Given the description of an element on the screen output the (x, y) to click on. 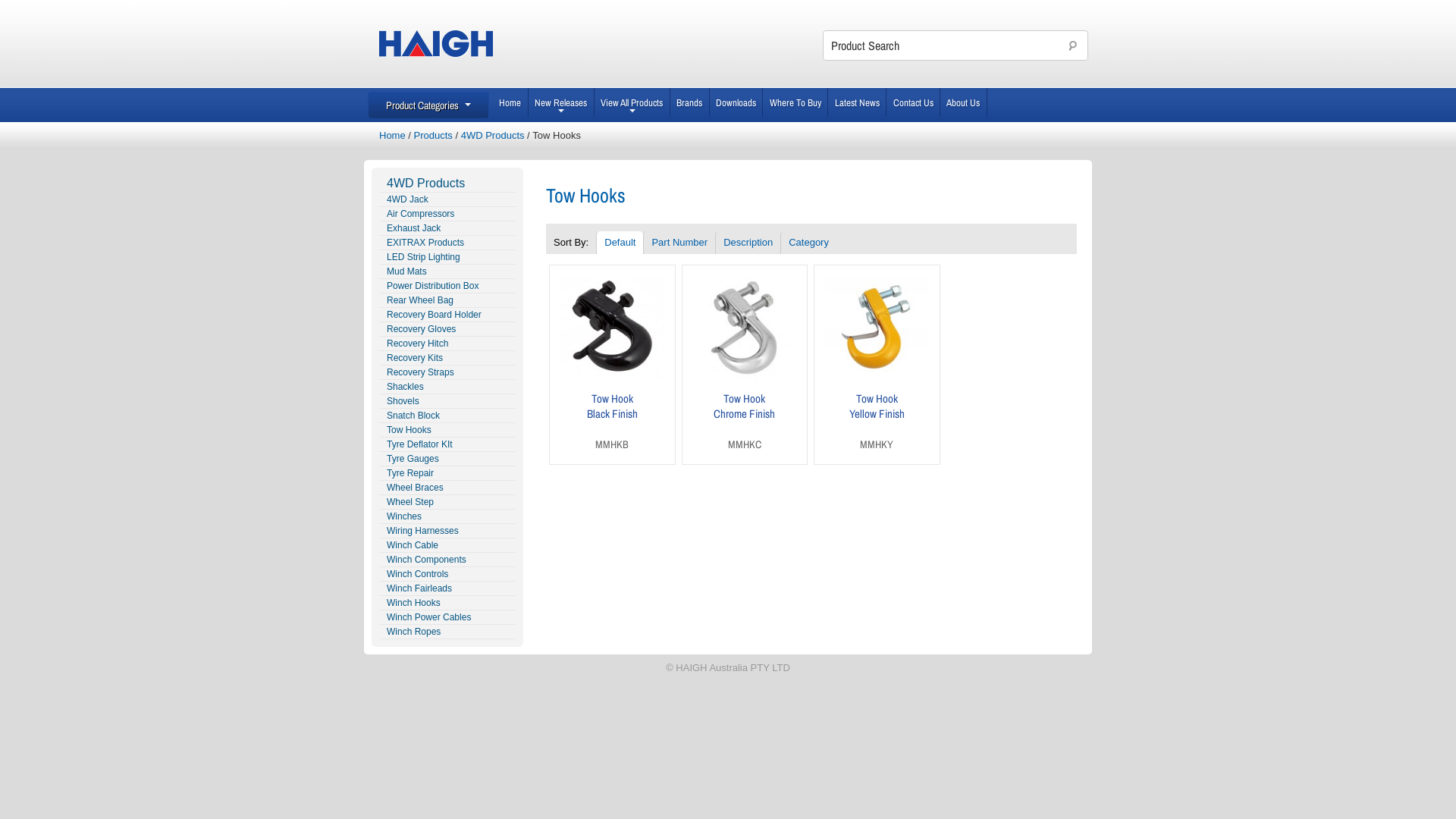
Tow Hook
Yellow Finish
MMHKY Element type: text (876, 364)
Tow Hooks Element type: text (447, 430)
Winch Power Cables Element type: text (447, 617)
Part Number Element type: text (679, 242)
Recovery Board Holder Element type: text (447, 314)
/products/4wd/tow-hooks/tow-hook-detail Element type: hover (612, 377)
Winch Fairleads Element type: text (447, 588)
Winches Element type: text (447, 516)
Rear Wheel Bag Element type: text (447, 300)
Recovery Straps Element type: text (447, 372)
Product Categories Element type: text (428, 105)
About Us Element type: text (963, 101)
Description Element type: text (747, 242)
LED Strip Lighting Element type: text (447, 257)
Contact Us Element type: text (913, 101)
Exhaust Jack Element type: text (447, 228)
Mud Mats Element type: text (447, 271)
Where To Buy Element type: text (795, 101)
Brands Element type: text (689, 101)
Tow Hook
Chrome Finish
MMHKC Element type: text (743, 364)
Tow Hook
Black Finish Element type: text (611, 406)
Wheel Braces Element type: text (447, 487)
Winch Ropes Element type: text (447, 631)
Recovery Hitch Element type: text (447, 343)
4WD Products Element type: text (447, 183)
Wiring Harnesses Element type: text (447, 531)
Category Element type: text (808, 242)
Tyre Deflator KIt Element type: text (447, 444)
Tow Hook
Black Finish
MMHKB Element type: text (612, 364)
Recovery Kits Element type: text (447, 358)
/products/4wd/tow-hooks/tow-hook-1-detail Element type: hover (744, 379)
View All Products Element type: text (632, 101)
MMHKB Element type: text (611, 444)
Downloads Element type: text (736, 101)
MMHKC Element type: text (744, 444)
Latest News Element type: text (857, 101)
Air Compressors Element type: text (447, 214)
Winch Controls Element type: text (447, 574)
4WD Jack Element type: text (447, 199)
/products/4wd/tow-hooks/tow-hook-2-detail Element type: hover (876, 374)
Winch Cable Element type: text (447, 545)
Products Element type: text (433, 135)
Tyre Gauges Element type: text (447, 458)
Winch Components Element type: text (447, 559)
Tyre Repair Element type: text (447, 473)
Tow Hook
Yellow Finish Element type: text (876, 406)
Snatch Block Element type: text (447, 415)
EXITRAX Products Element type: text (447, 242)
Recovery Gloves Element type: text (447, 329)
Winch Hooks Element type: text (447, 603)
Home Element type: text (392, 135)
4WD Products Element type: text (492, 135)
New Releases Element type: text (561, 101)
Power Distribution Box Element type: text (447, 286)
Default Element type: text (619, 242)
Shackles Element type: text (447, 386)
Tow Hook
Chrome Finish Element type: text (744, 406)
Shovels Element type: text (447, 401)
MMHKY Element type: text (876, 444)
Wheel Step Element type: text (447, 502)
Home Element type: text (510, 101)
